Given the description of an element on the screen output the (x, y) to click on. 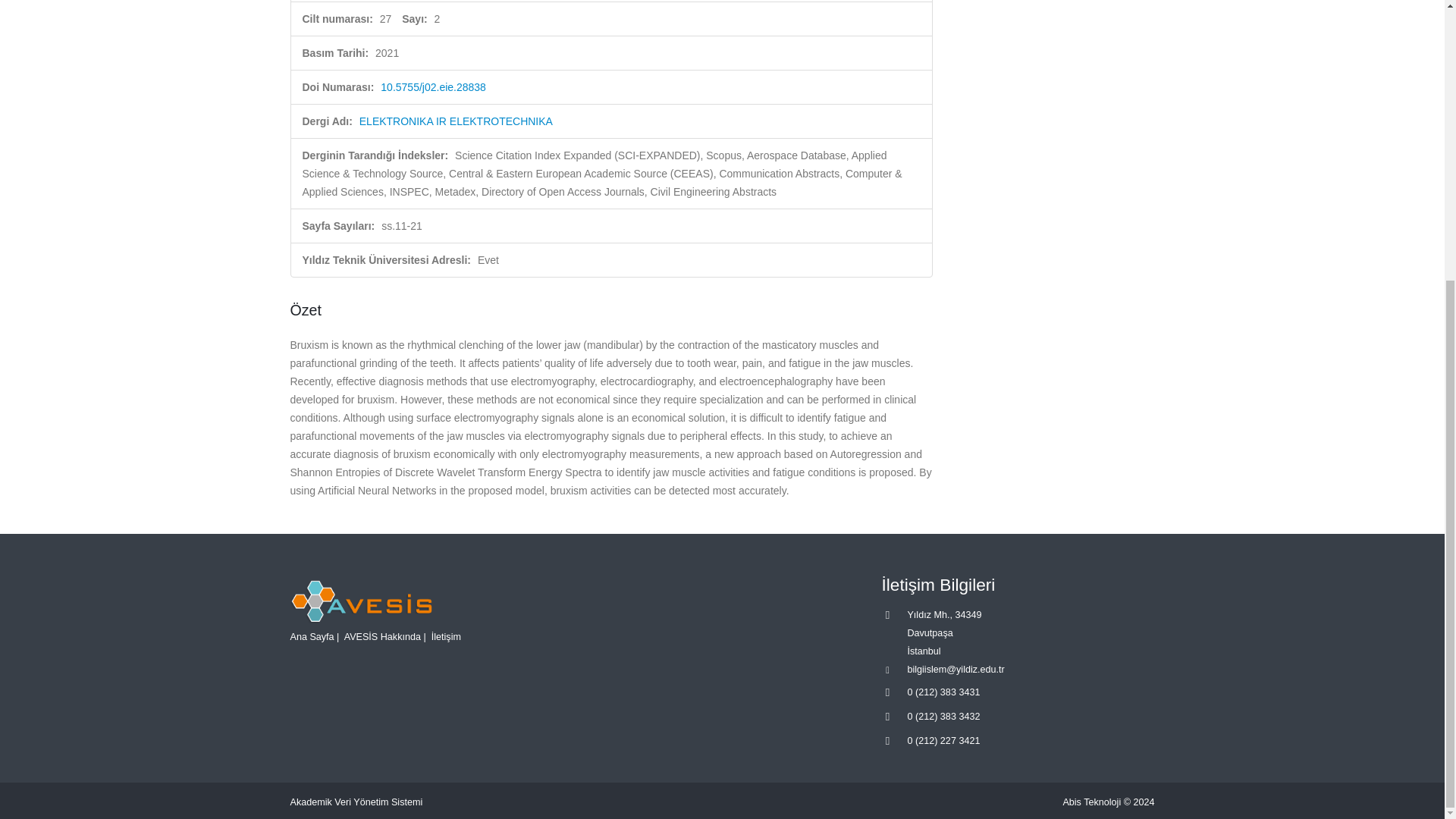
Abis Teknoloji (1091, 801)
Ana Sayfa (311, 636)
ELEKTRONIKA IR ELEKTROTECHNIKA (456, 121)
